Given the description of an element on the screen output the (x, y) to click on. 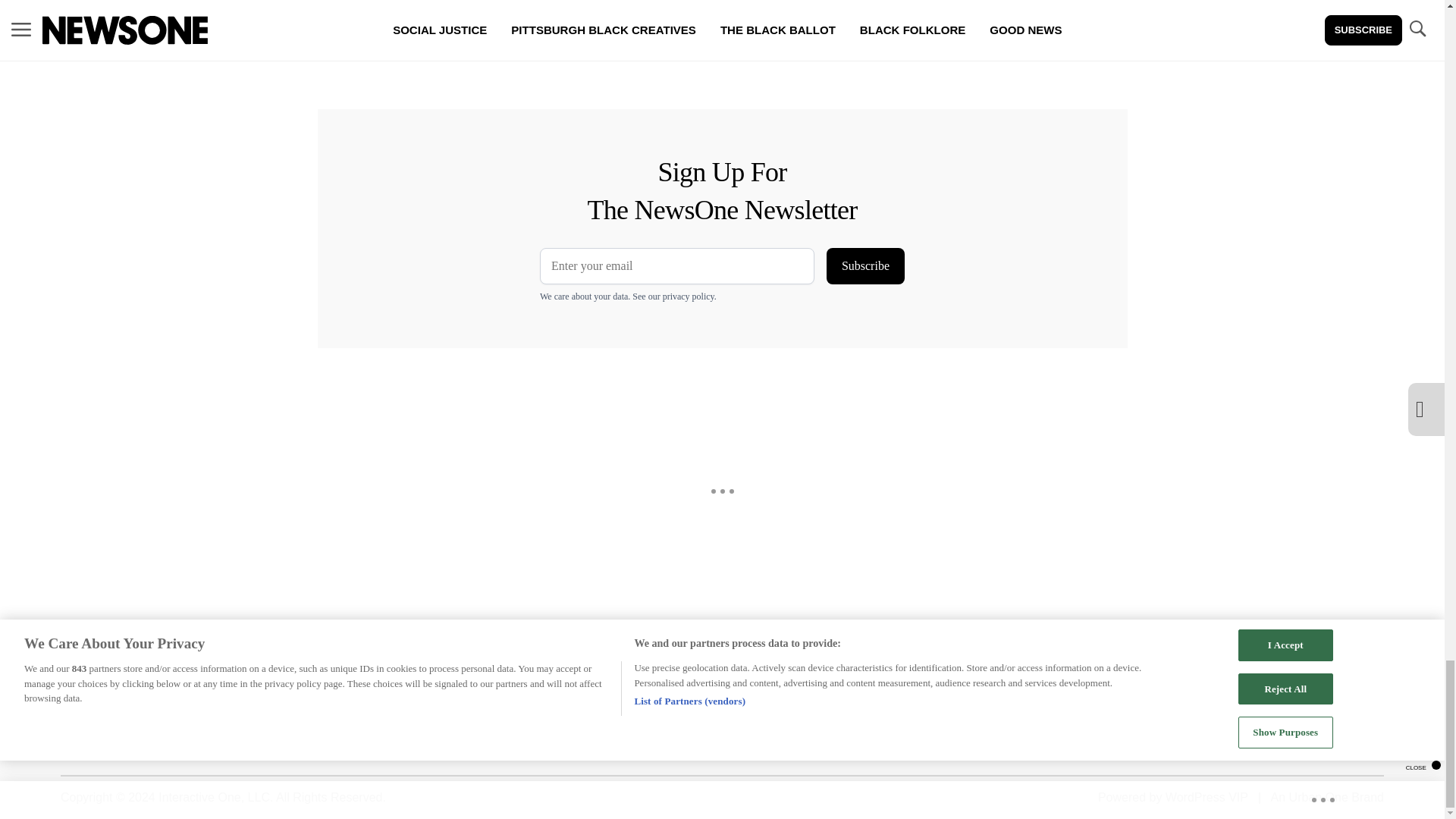
Vuukle Comments Widget (585, 54)
